Given the description of an element on the screen output the (x, y) to click on. 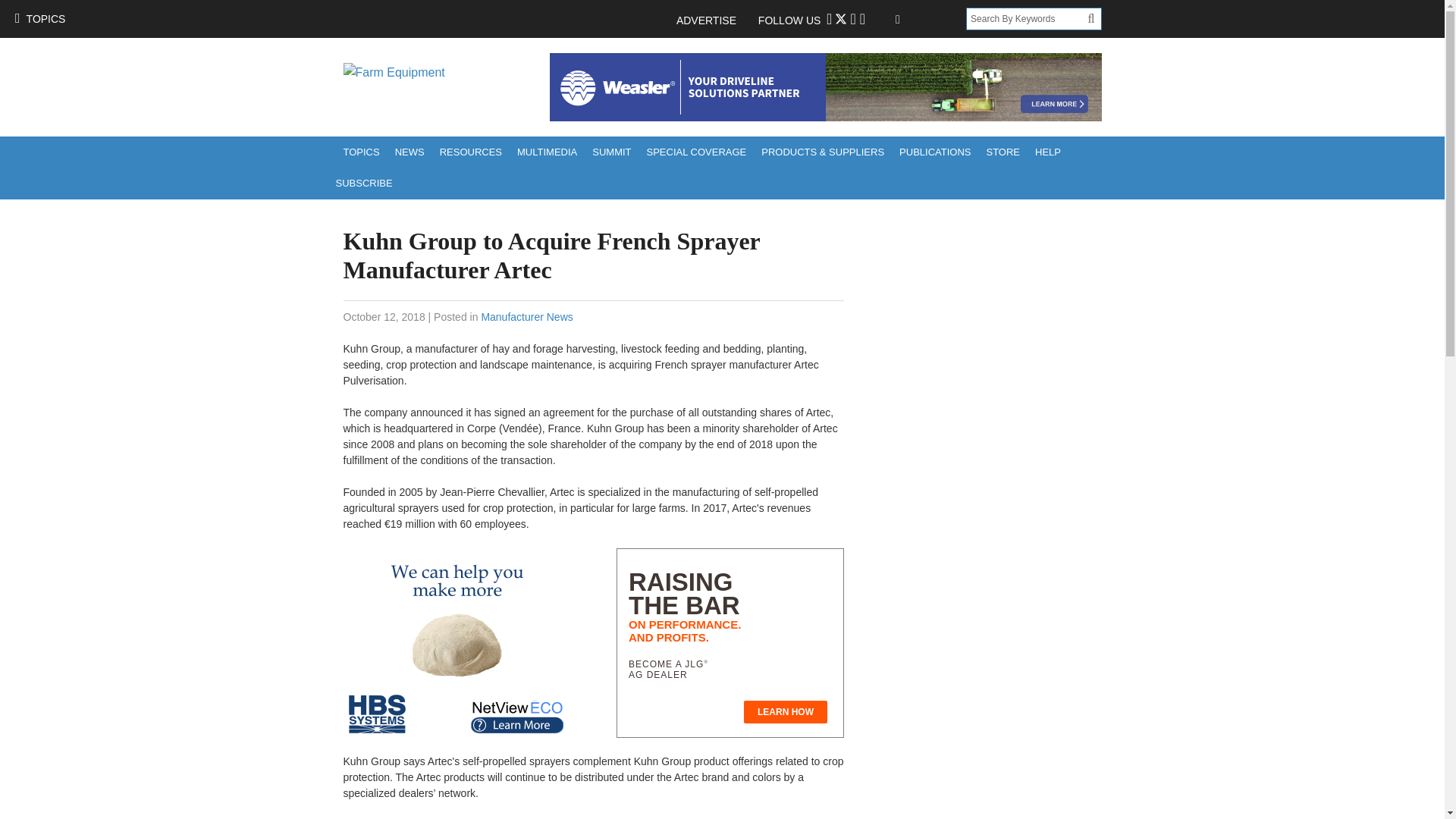
Weasler (824, 87)
ADVERTISE (714, 20)
TOPICS (360, 151)
TOPICS (39, 18)
Search By Keywords (1026, 18)
Search By Keywords (1026, 18)
HBS Systems (456, 642)
